Given the description of an element on the screen output the (x, y) to click on. 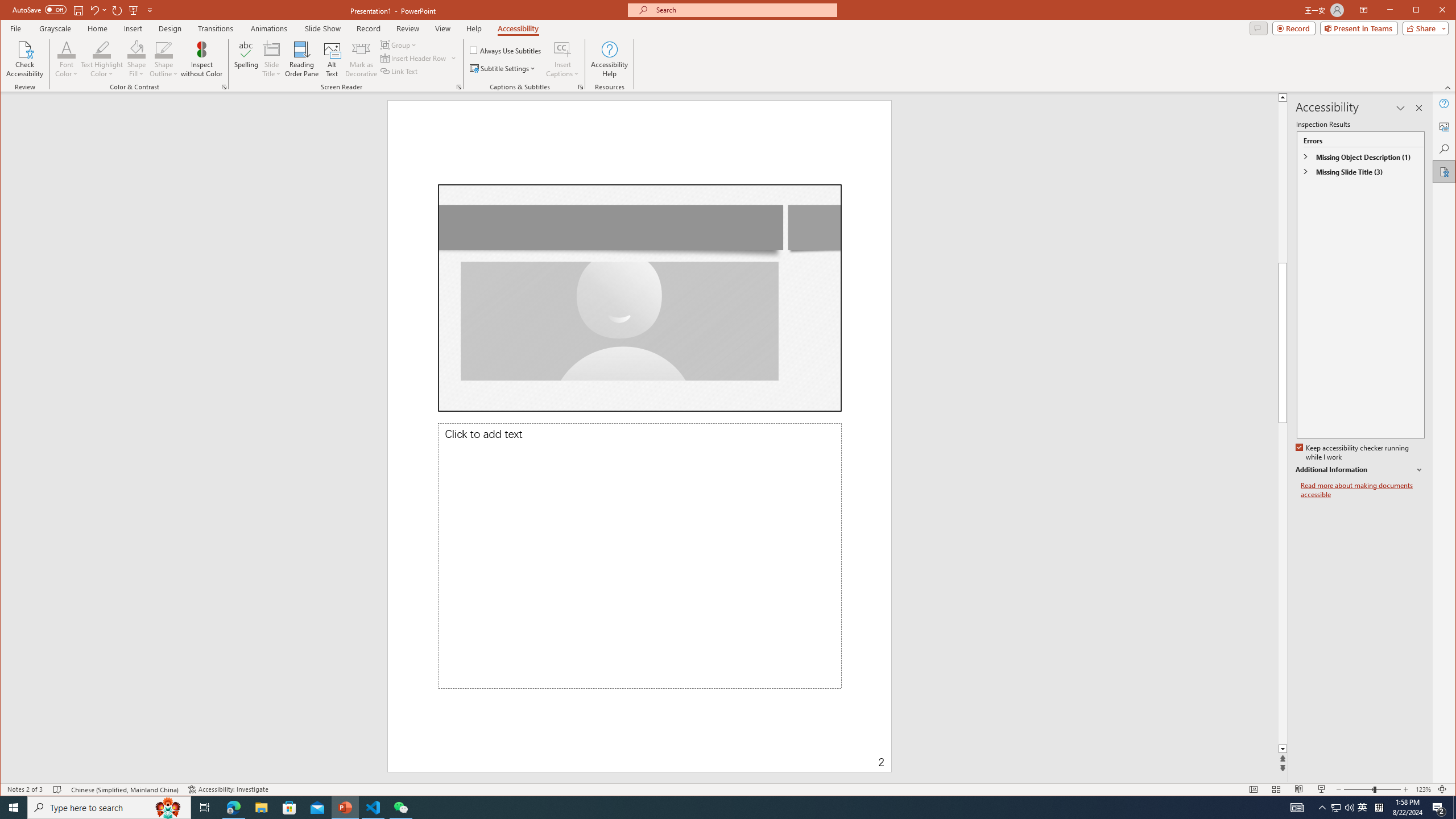
Slide Title (271, 59)
Visual Studio Code - 1 running window (373, 807)
PowerPoint - 1 running window (345, 807)
Microsoft Edge - 1 running window (233, 807)
Alt Text (1335, 807)
Page up (331, 59)
Maximize (1427, 181)
Font Color (1432, 11)
